Given the description of an element on the screen output the (x, y) to click on. 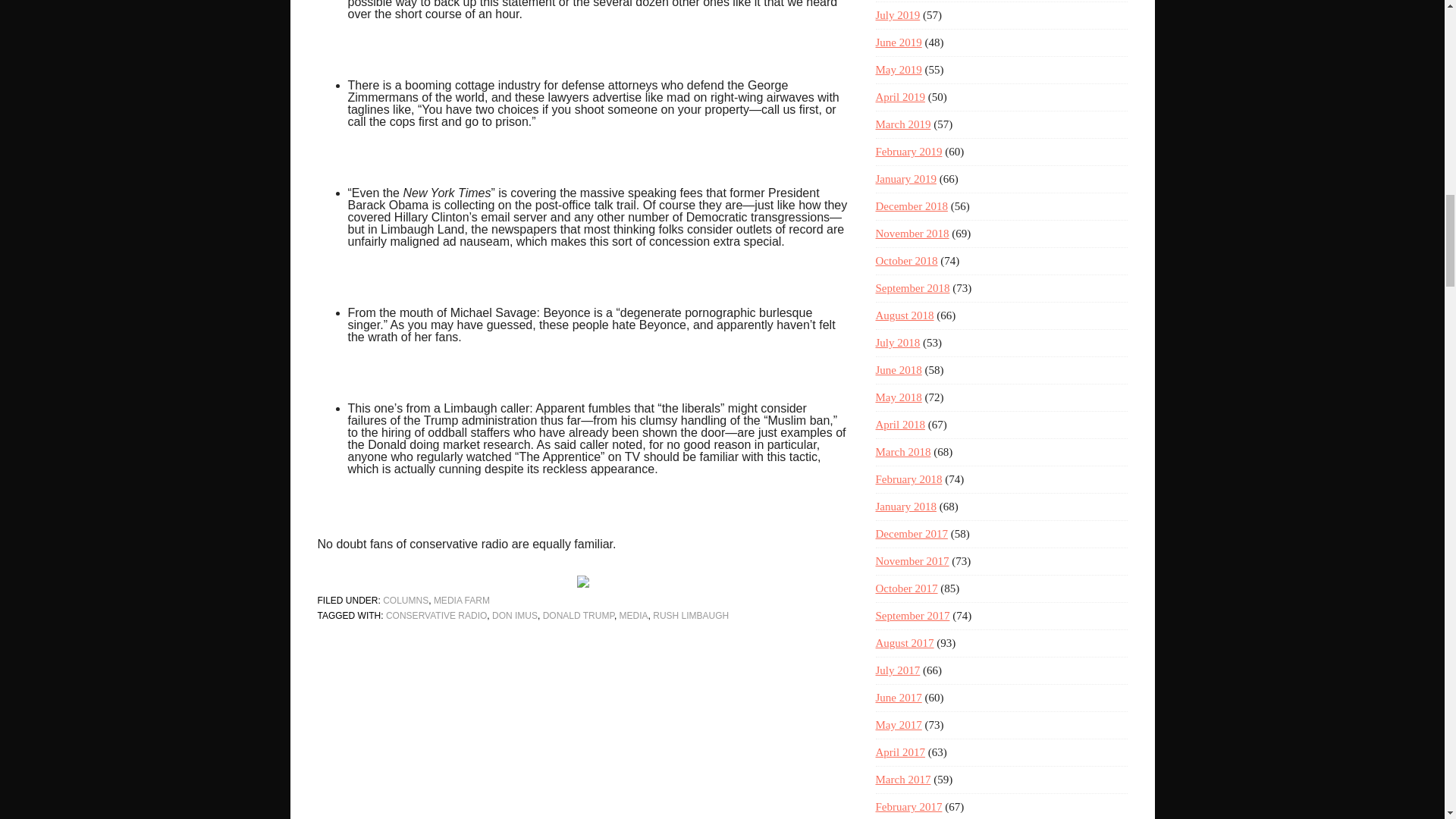
COLUMNS (405, 600)
CONSERVATIVE RADIO (435, 615)
MEDIA FARM (461, 600)
